Given the description of an element on the screen output the (x, y) to click on. 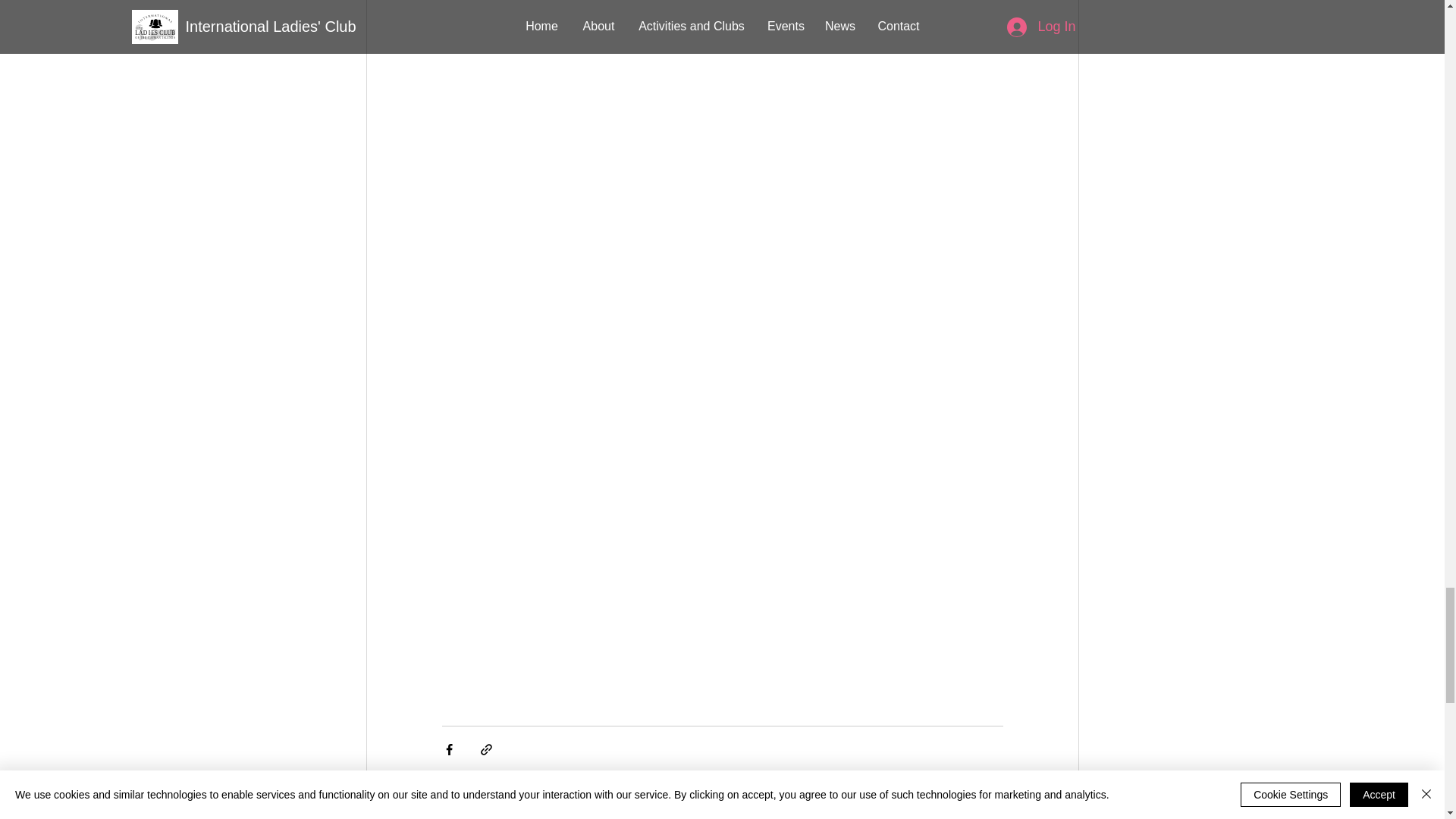
Post not marked as liked (995, 794)
